Given the description of an element on the screen output the (x, y) to click on. 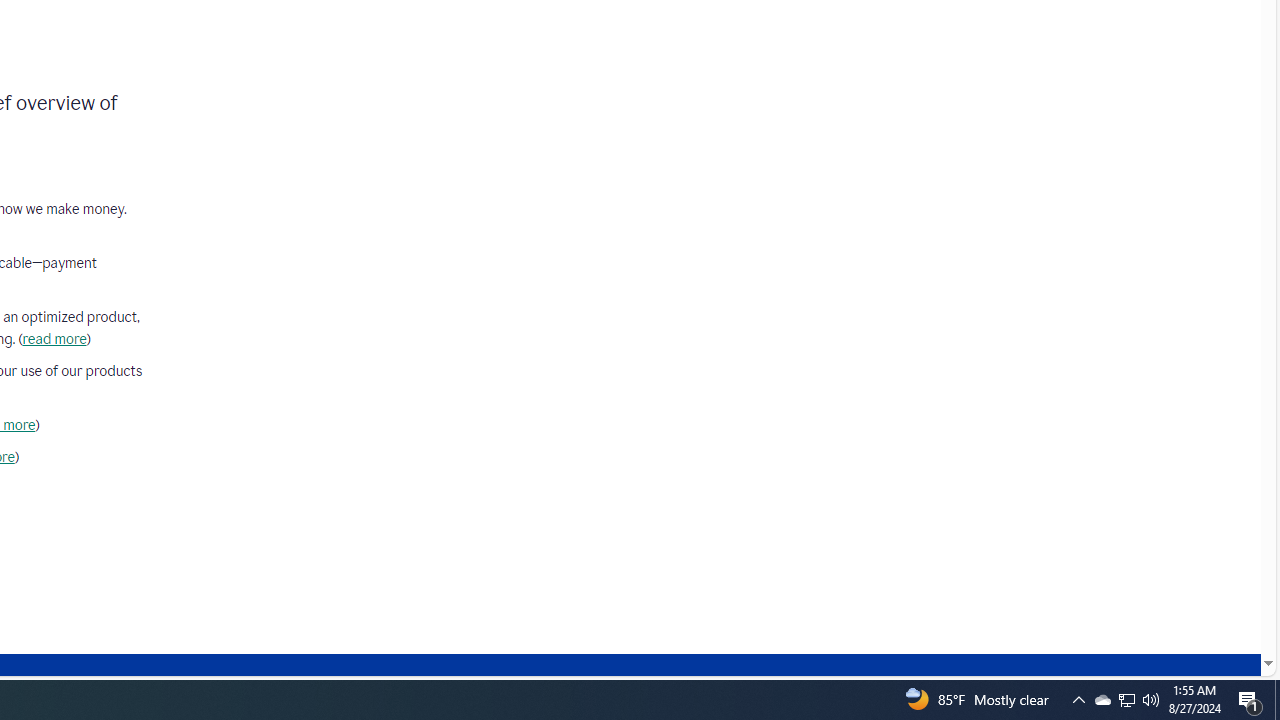
read more (54, 339)
